Given the description of an element on the screen output the (x, y) to click on. 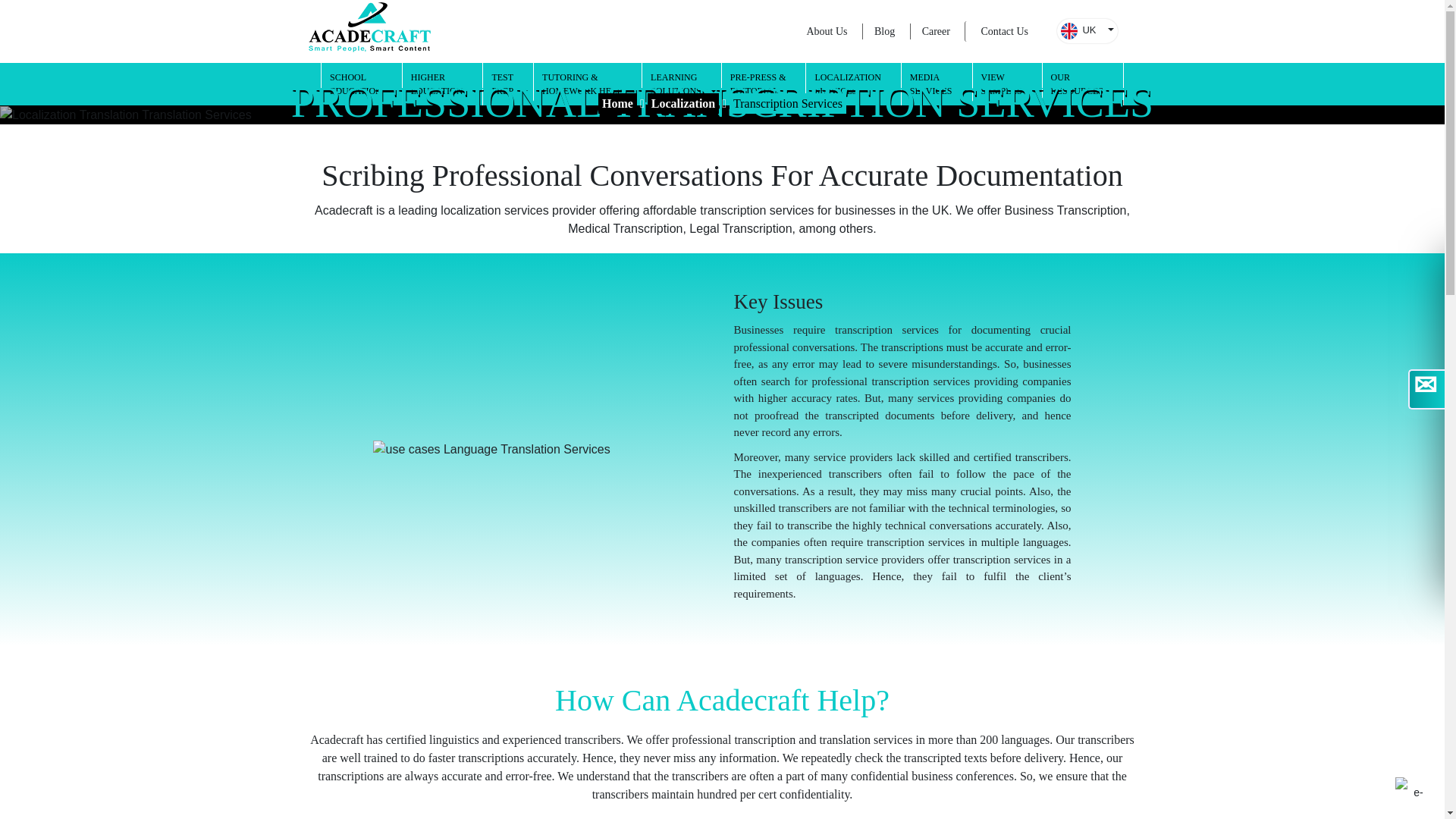
Contact Us (1003, 31)
About Us (826, 31)
Blog (362, 84)
Career (443, 84)
